Given the description of an element on the screen output the (x, y) to click on. 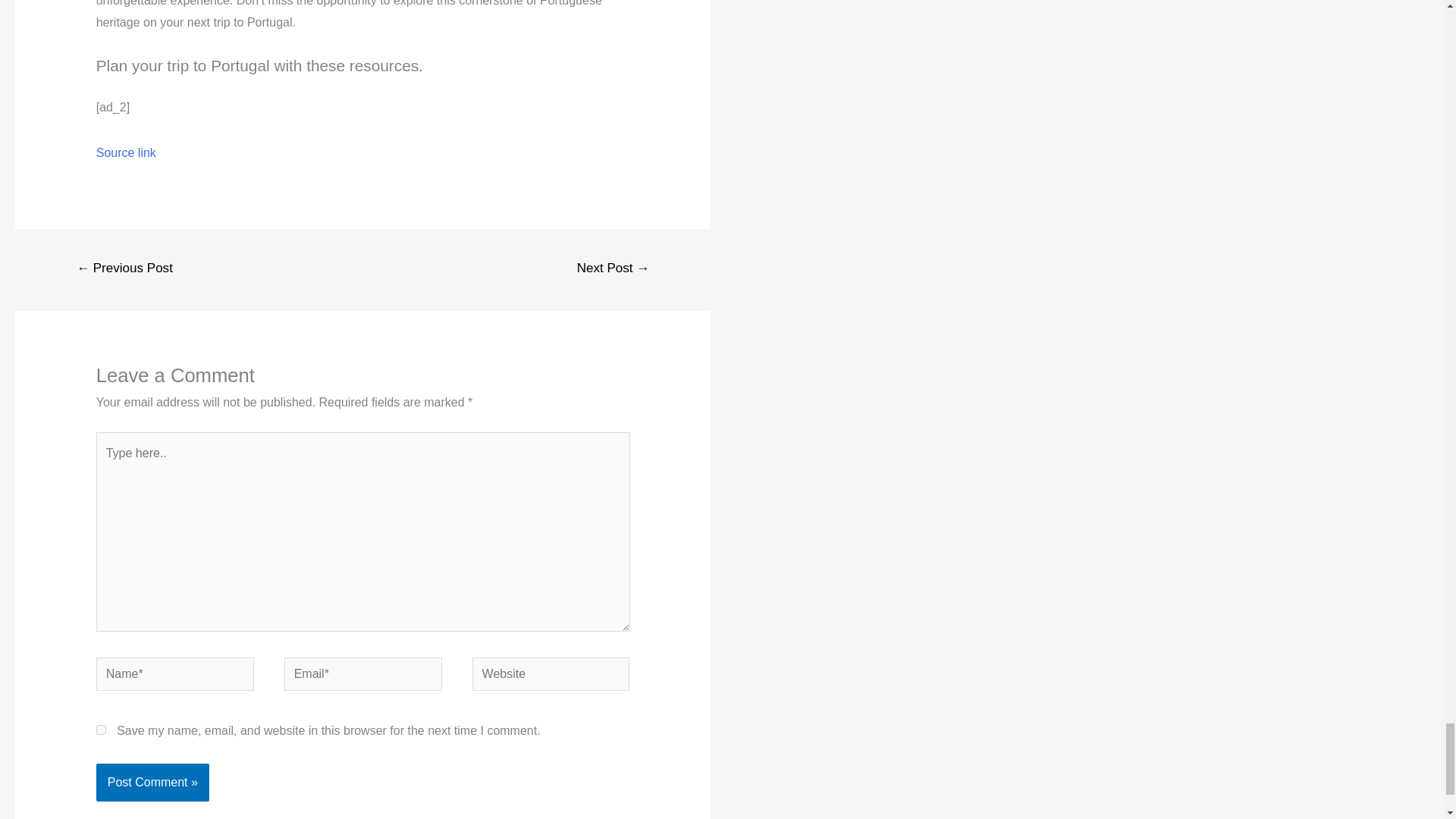
Source link (125, 152)
yes (101, 729)
